Given the description of an element on the screen output the (x, y) to click on. 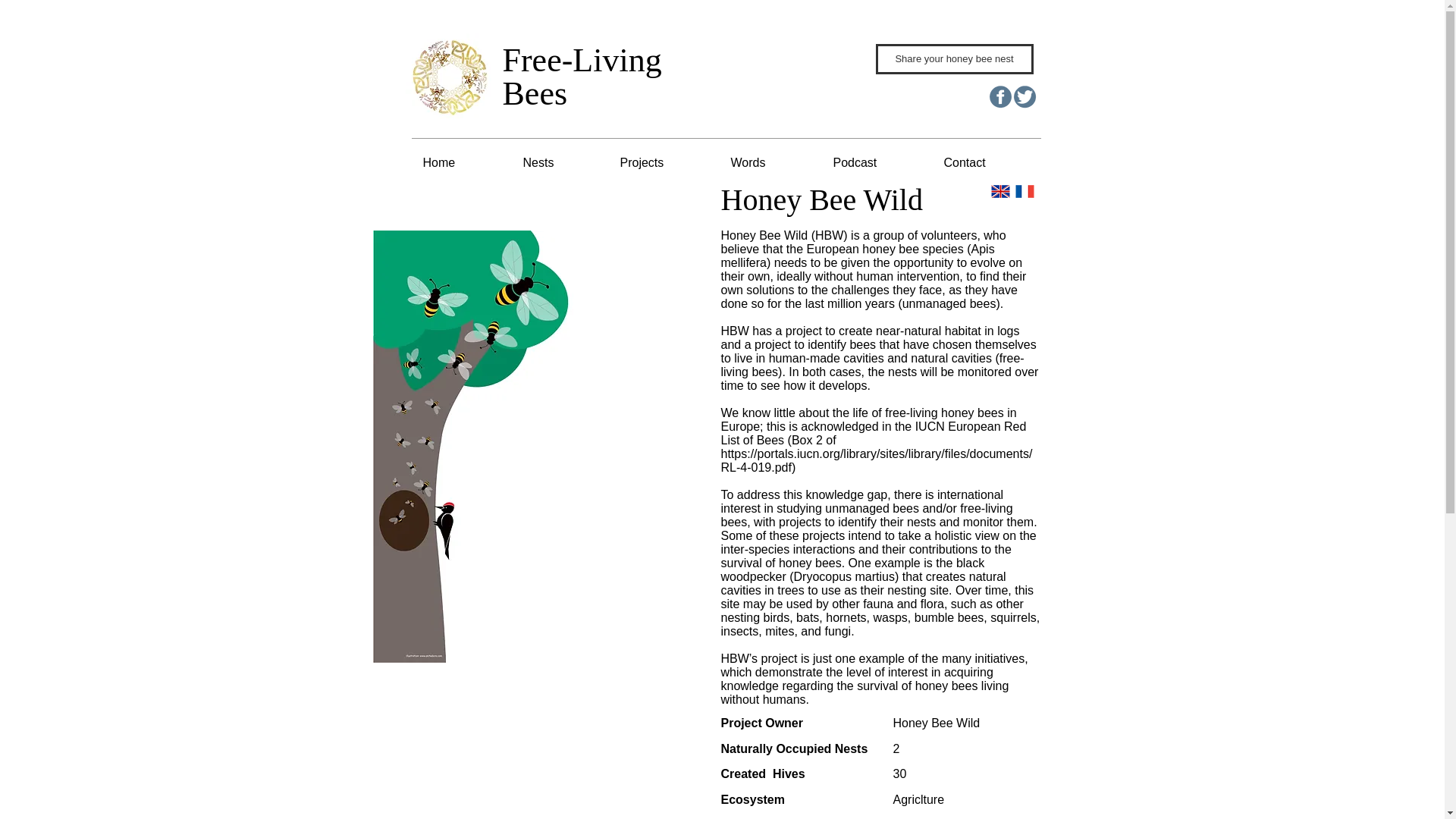
Projects (663, 162)
Podcast (877, 162)
Words (770, 162)
FR.png (1023, 190)
Nests (559, 162)
Contact (987, 162)
Home (460, 162)
Share your honey bee nest (953, 59)
